Given the description of an element on the screen output the (x, y) to click on. 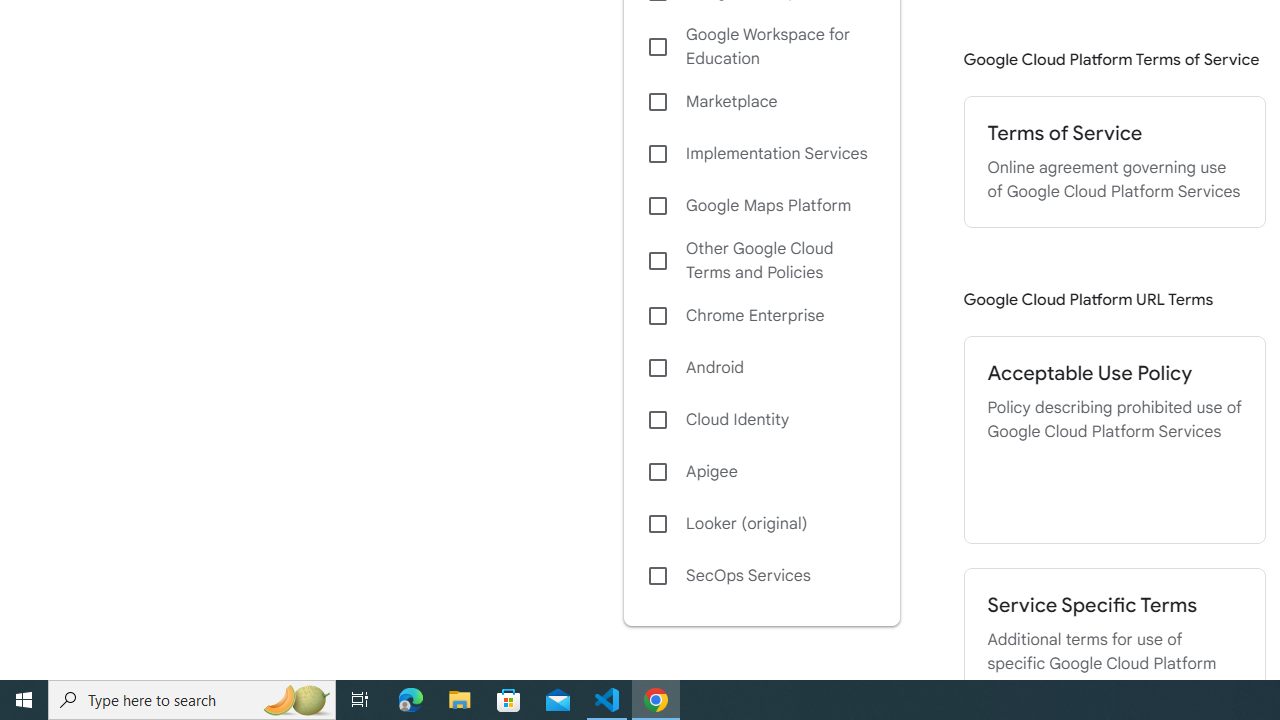
Marketplace (761, 102)
Chrome Enterprise (761, 316)
Other Google Cloud Terms and Policies (761, 260)
Google Workspace for Education (761, 47)
Cloud Identity (761, 419)
SecOps Services (761, 575)
Android (761, 367)
Apigee (761, 471)
Google Maps Platform (761, 205)
Looker (original) (761, 524)
Implementation Services (761, 154)
